Given the description of an element on the screen output the (x, y) to click on. 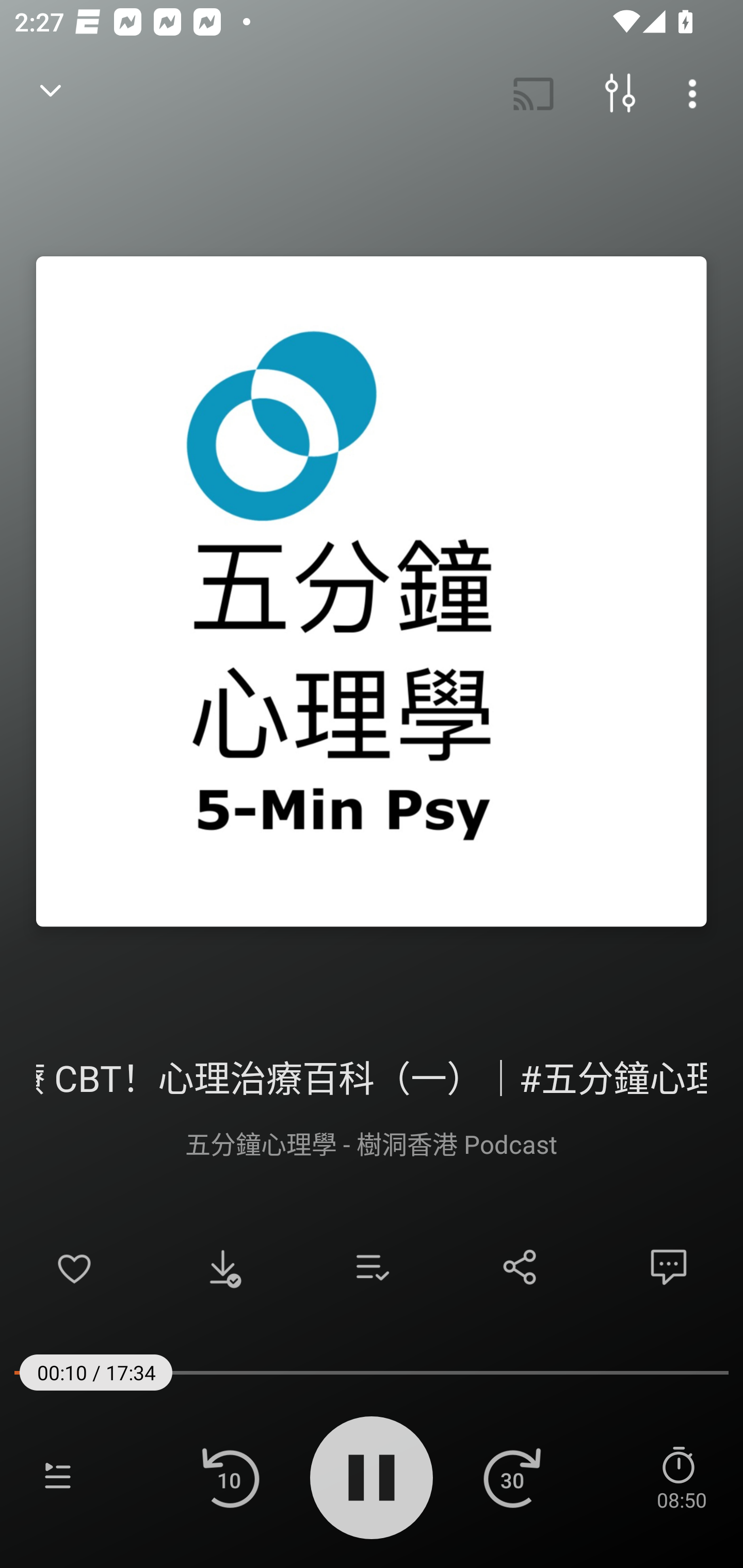
Cast. Disconnected (533, 93)
 Back (50, 94)
#PSY｜困擾源於盲點？認知行為治療 CBT！心理治療百科（一）｜#五分鐘心理學 (371, 1075)
五分鐘心理學 - 樹洞香港 Podcast (371, 1142)
Comments (668, 1266)
Add to Favorites (73, 1266)
Add to playlist (371, 1266)
Share (519, 1266)
Sleep Timer  08:50 (681, 1477)
 Playlist (57, 1477)
